Given the description of an element on the screen output the (x, y) to click on. 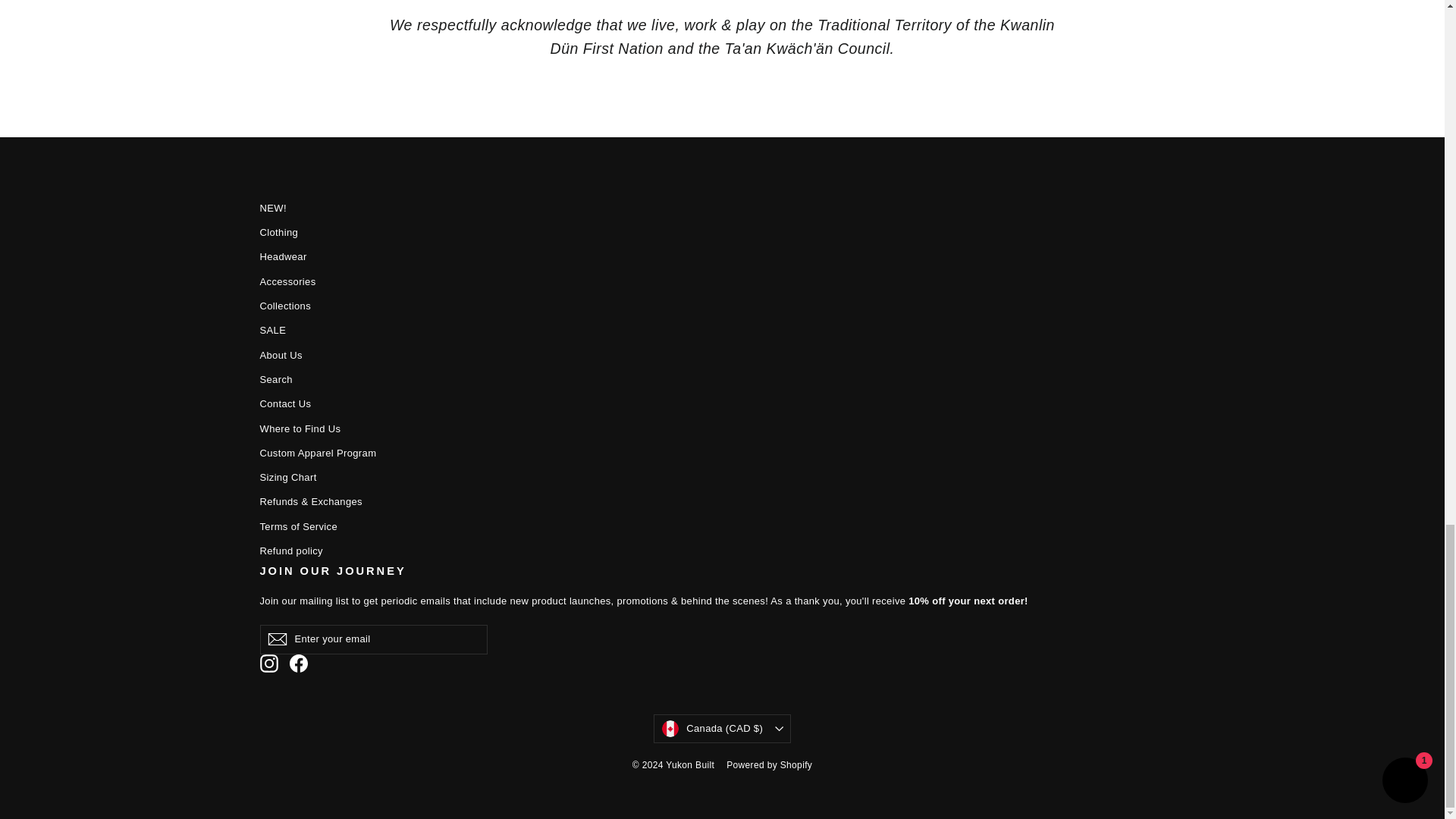
icon-email (276, 638)
Yukon Built on Instagram (268, 663)
Yukon Built on Facebook (298, 663)
instagram (268, 663)
